Given the description of an element on the screen output the (x, y) to click on. 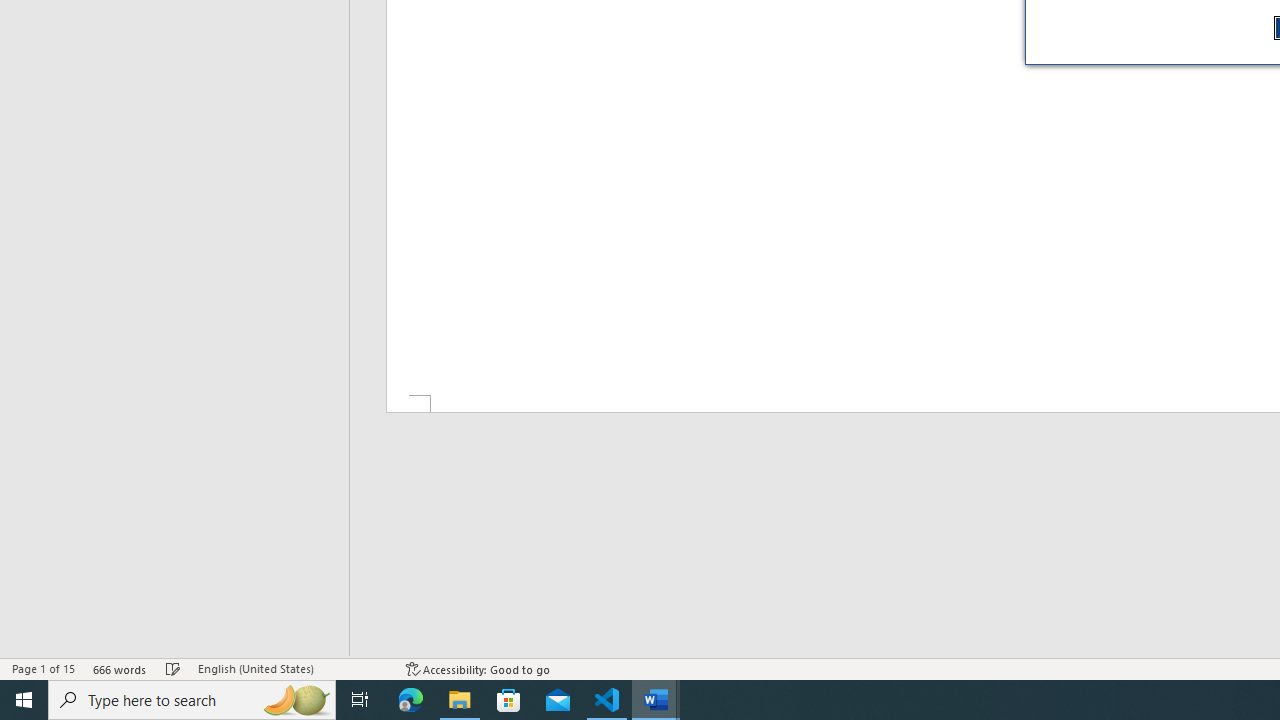
Word - 2 running windows (656, 699)
Page Number Page 1 of 15 (43, 668)
Microsoft Edge (411, 699)
